Given the description of an element on the screen output the (x, y) to click on. 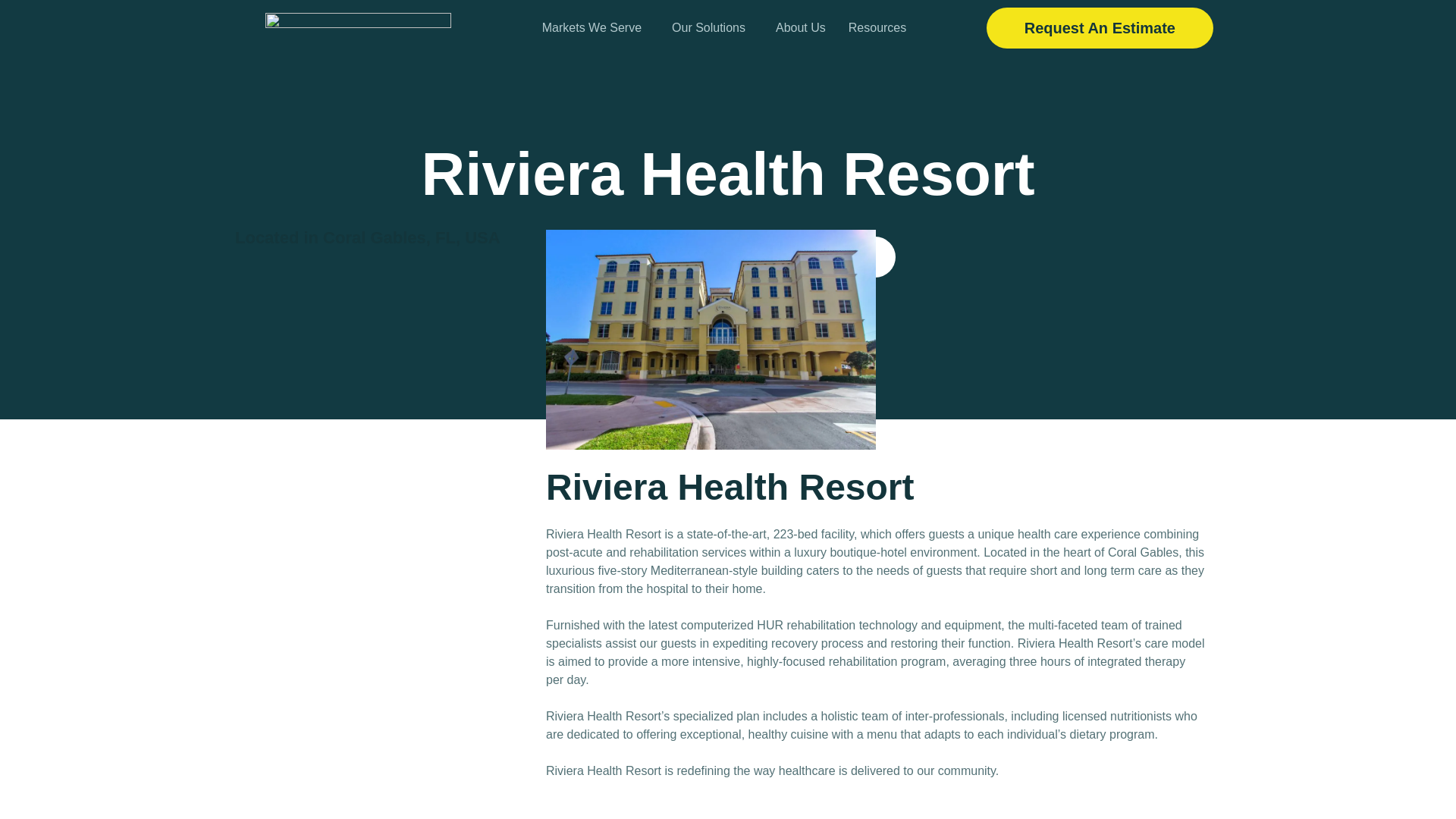
Request An Estimate (1099, 27)
About Us (800, 27)
Resources (880, 27)
Markets We Serve (596, 27)
Our Solutions (712, 27)
